Given the description of an element on the screen output the (x, y) to click on. 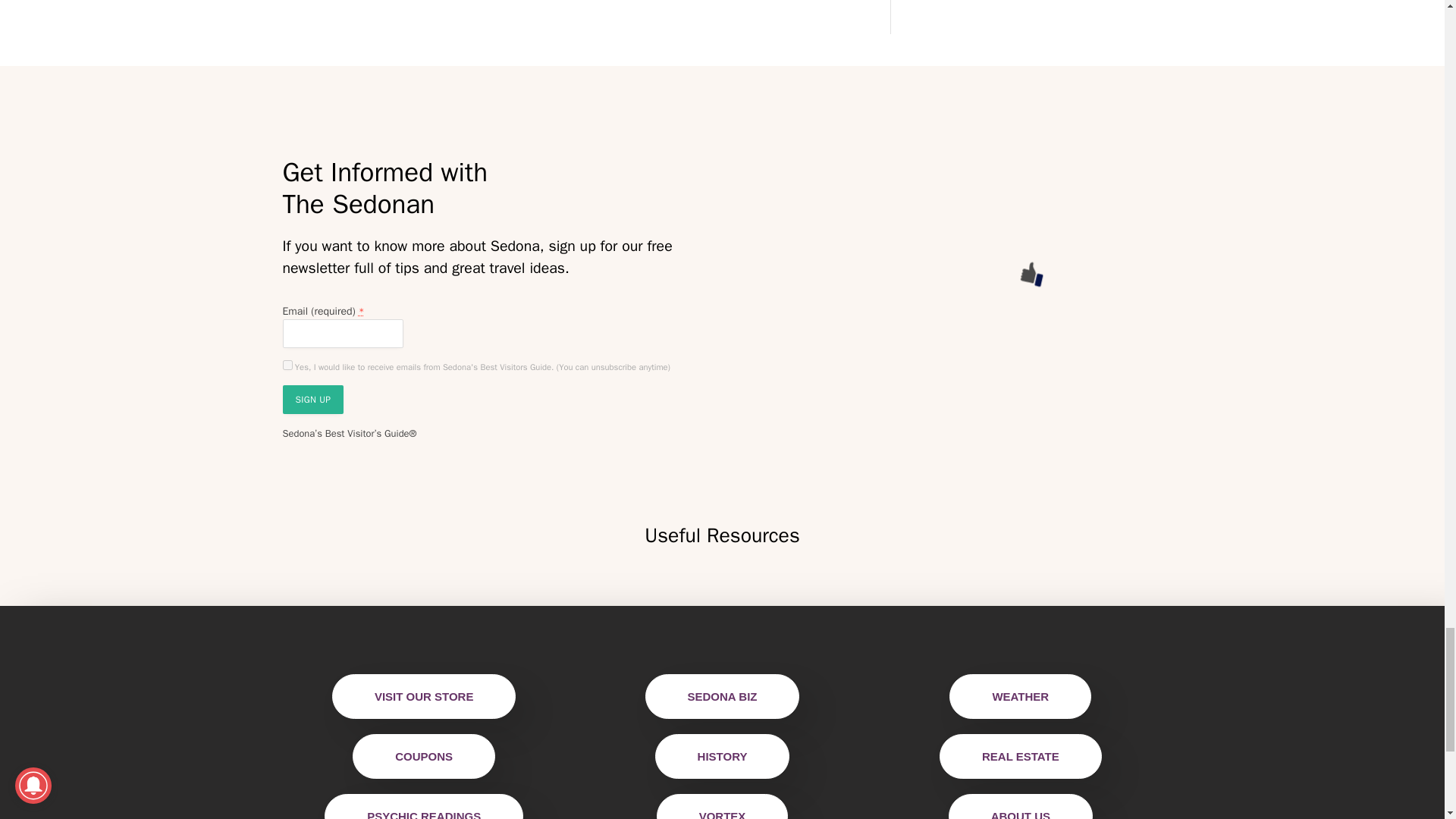
Sign up (312, 399)
1 (287, 365)
